Given the description of an element on the screen output the (x, y) to click on. 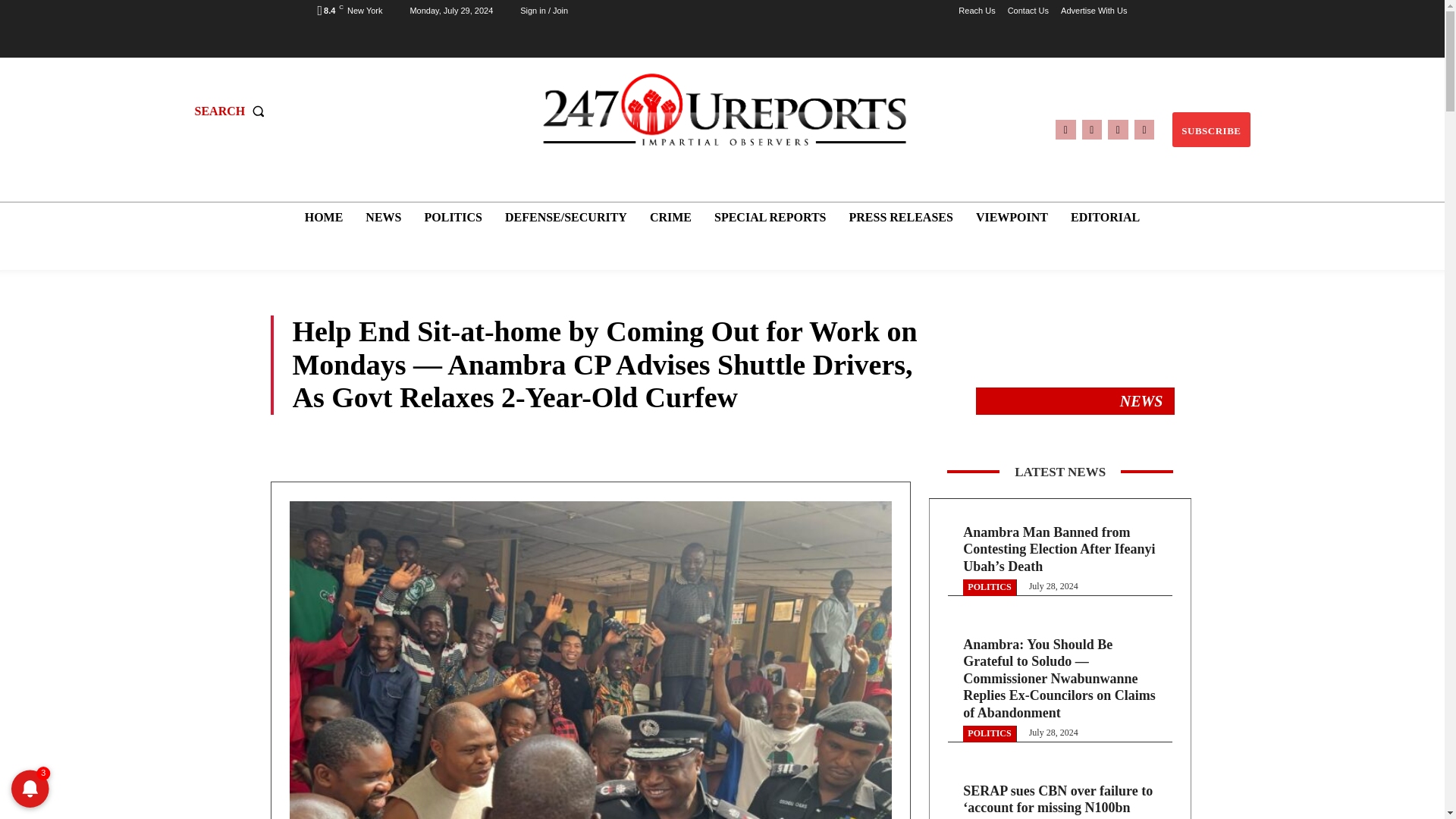
Facebook (1065, 129)
SEARCH (231, 111)
Instagram (1091, 129)
Impartial Observers (724, 109)
SUBSCRIBE (1210, 130)
Youtube (1144, 129)
Contact Us (1027, 10)
View all posts in News (1141, 401)
HOME (323, 217)
Subscribe (1210, 130)
NEWS (383, 217)
Twitter (1118, 129)
Reach Us (976, 10)
Advertise With Us (1093, 10)
